Given the description of an element on the screen output the (x, y) to click on. 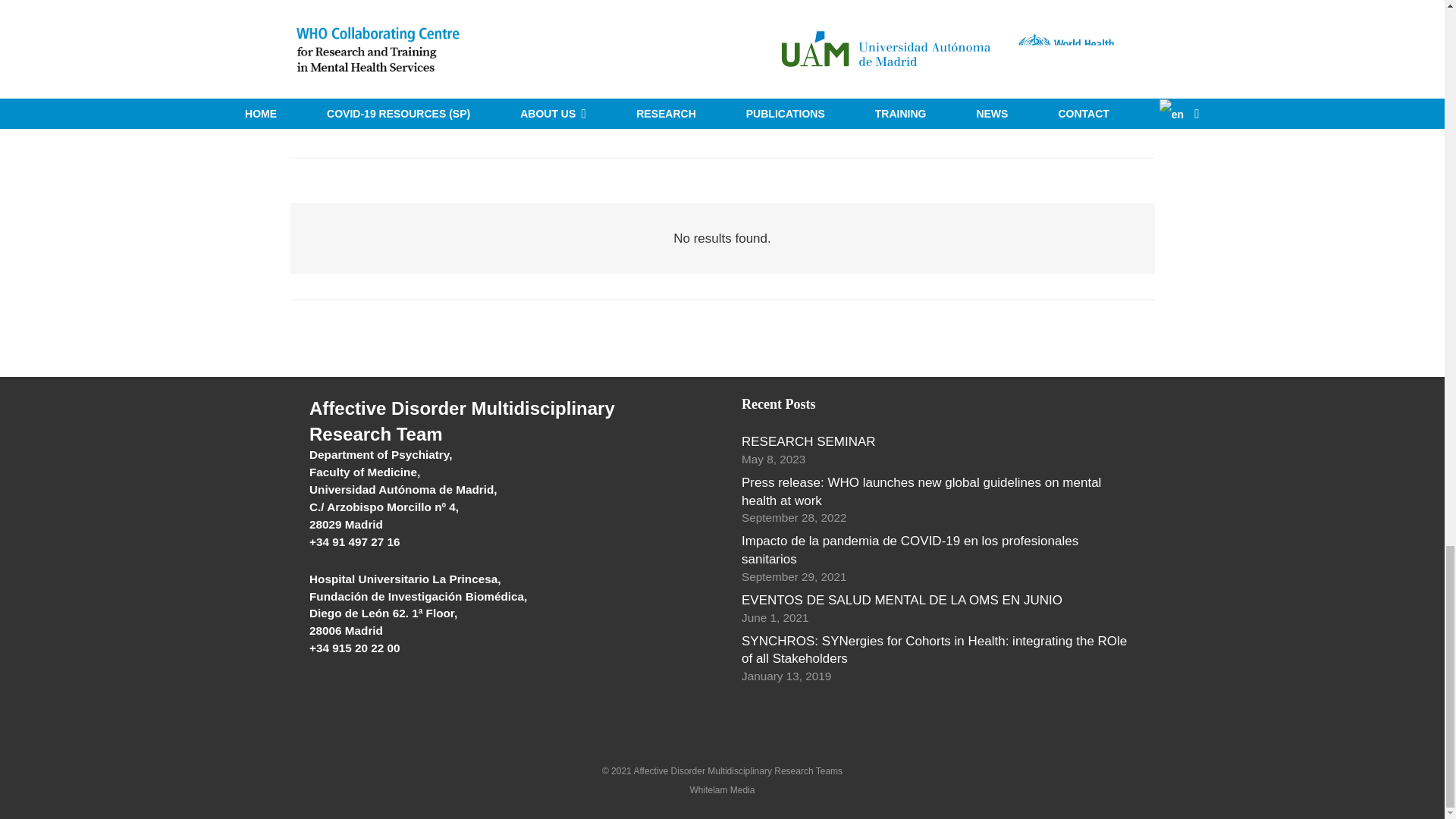
RESEARCH SEMINAR (808, 441)
EVENTOS DE SALUD MENTAL DE LA OMS EN JUNIO (901, 599)
Whitelam Media (721, 789)
